Given the description of an element on the screen output the (x, y) to click on. 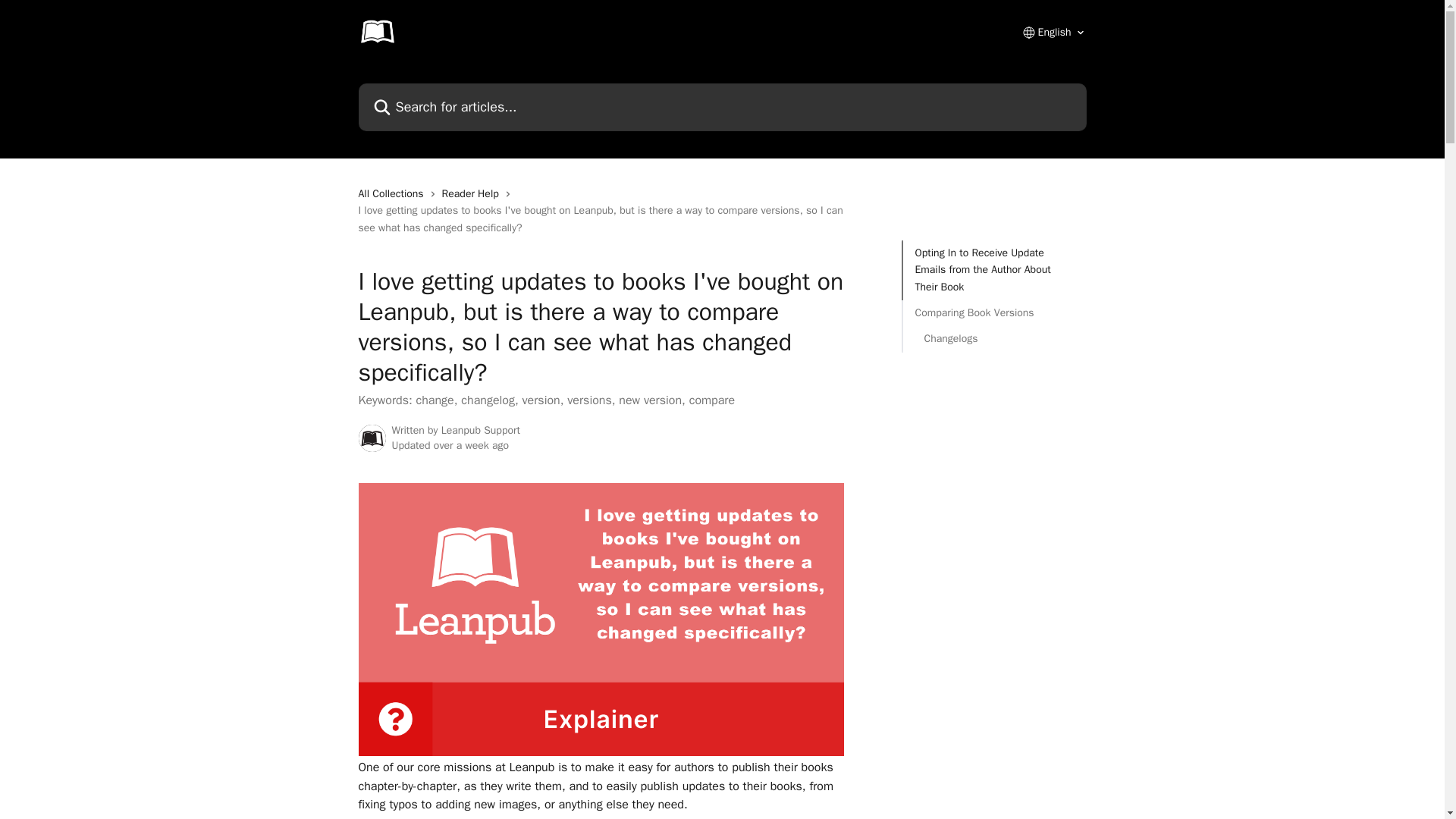
Reader Help (473, 193)
Changelogs (993, 338)
Comparing Book Versions (994, 312)
All Collections (393, 193)
